Given the description of an element on the screen output the (x, y) to click on. 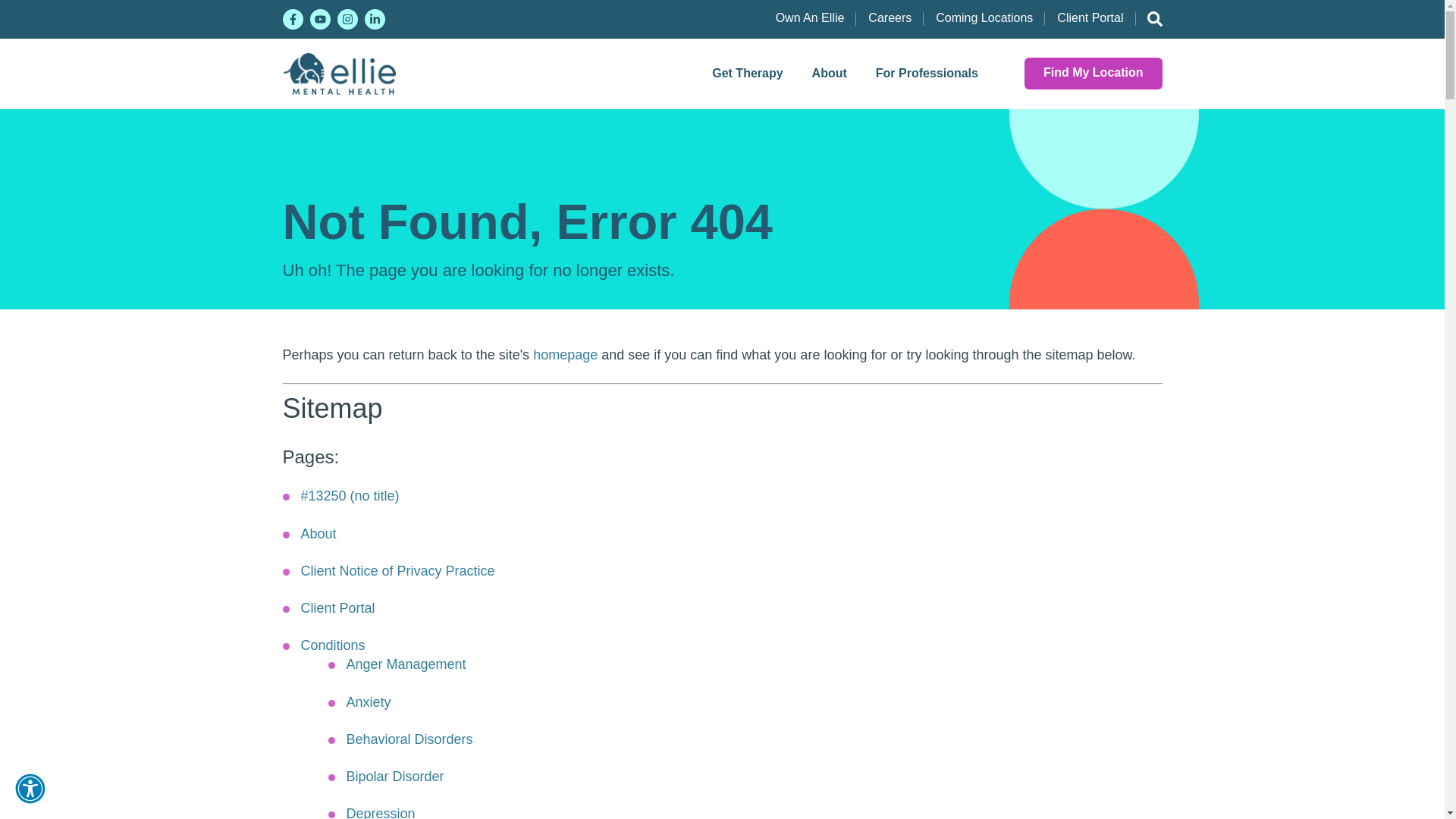
About (317, 533)
Own An Ellie (809, 18)
Find My Location (1093, 73)
Search (1148, 20)
YouTube (319, 19)
LinkedIn (374, 19)
About (829, 73)
Facebook (292, 19)
Careers (889, 18)
Client Portal (1090, 18)
Coming Locations (984, 18)
For Professionals (926, 73)
Get Therapy (746, 73)
homepage (564, 354)
